Given the description of an element on the screen output the (x, y) to click on. 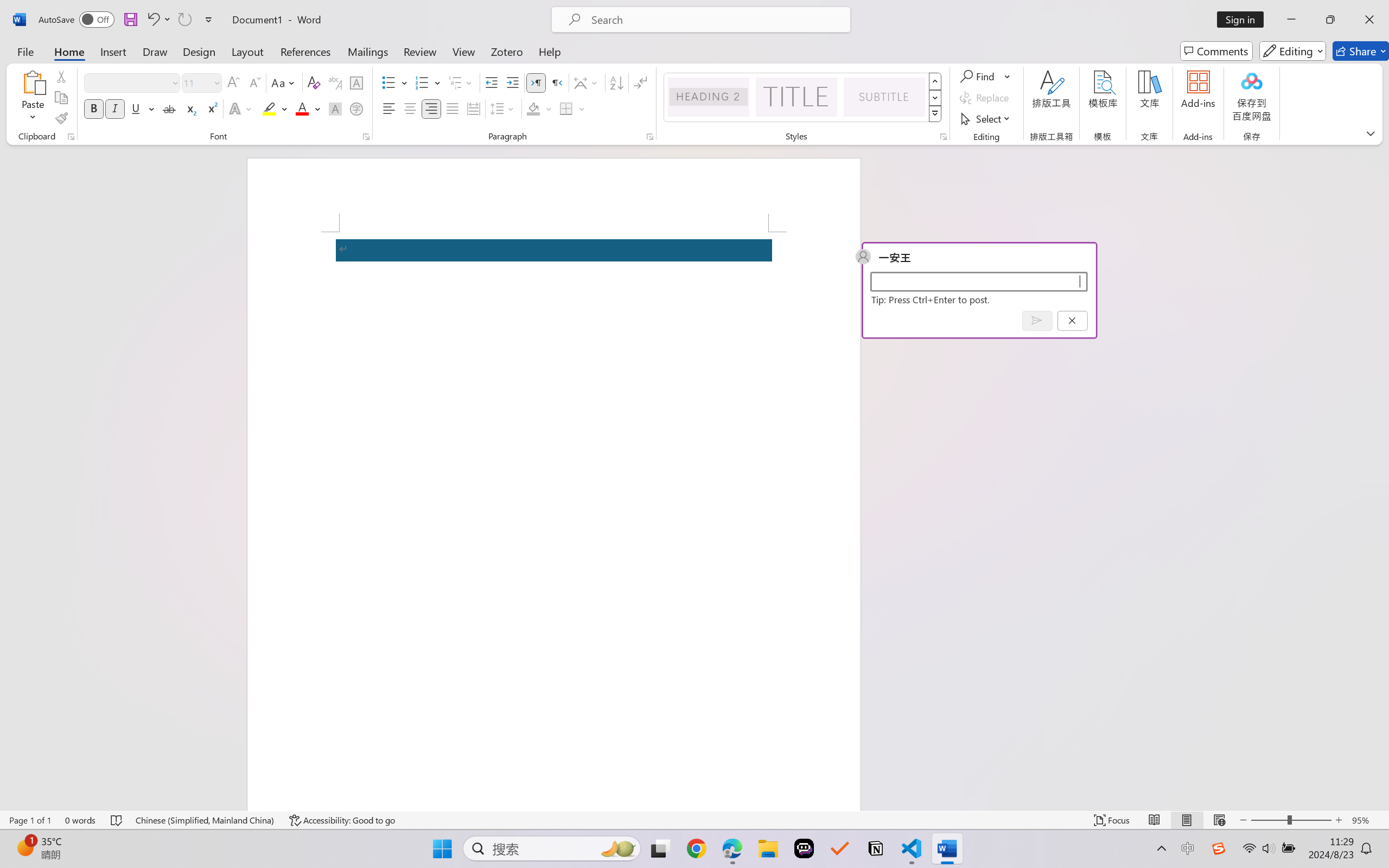
Editing (1292, 50)
Font Color RGB(255, 0, 0) (302, 108)
Undo (158, 19)
